Given the description of an element on the screen output the (x, y) to click on. 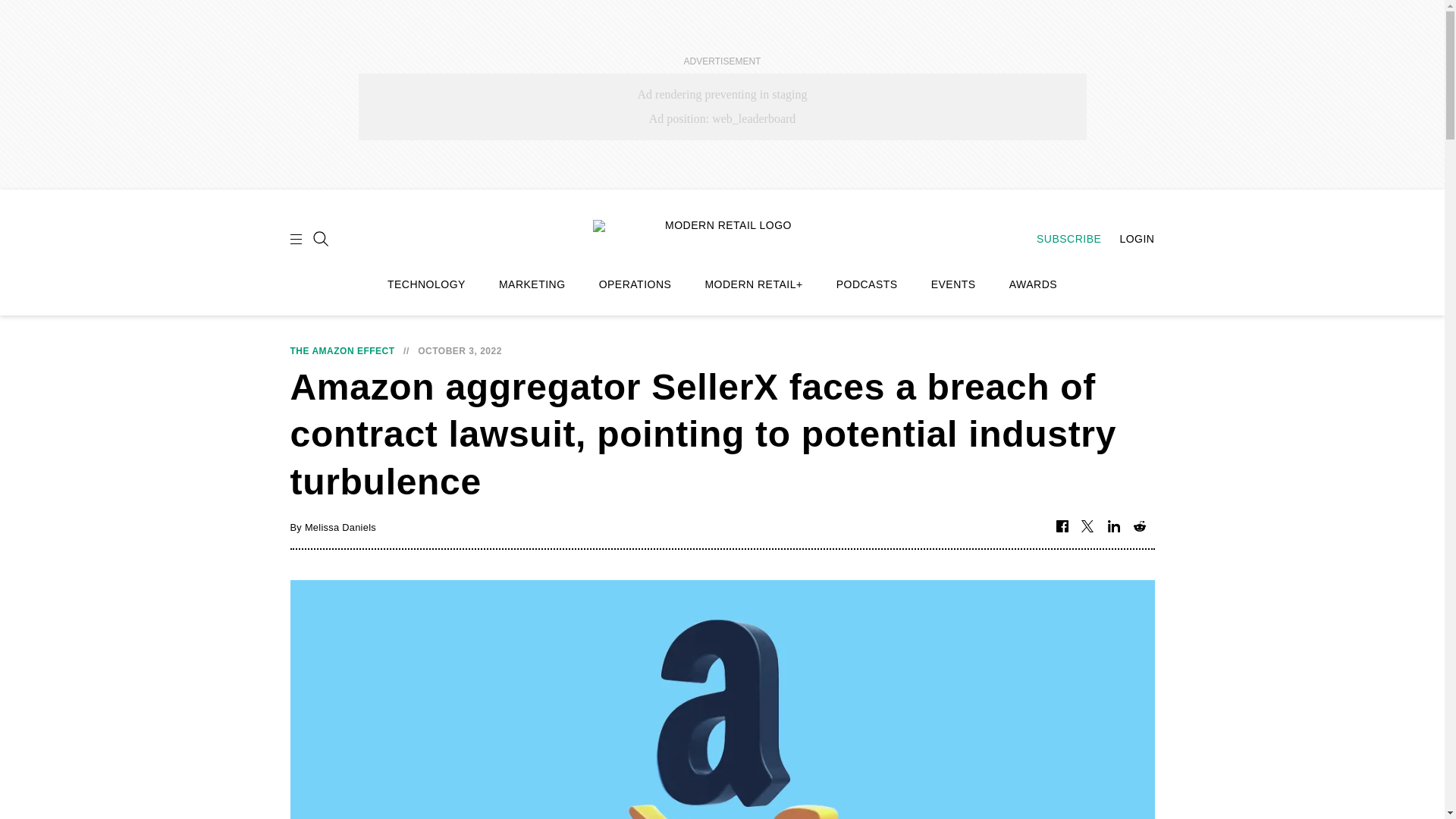
EVENTS (953, 284)
LOGIN (1128, 238)
OPERATIONS (634, 284)
Share on LinkedIn (1113, 526)
Share on Reddit (1139, 526)
Share on Twitter (1087, 526)
MARKETING (532, 284)
Share on Facebook (1061, 526)
SUBSCRIBE (1061, 238)
AWARDS (1033, 284)
